Given the description of an element on the screen output the (x, y) to click on. 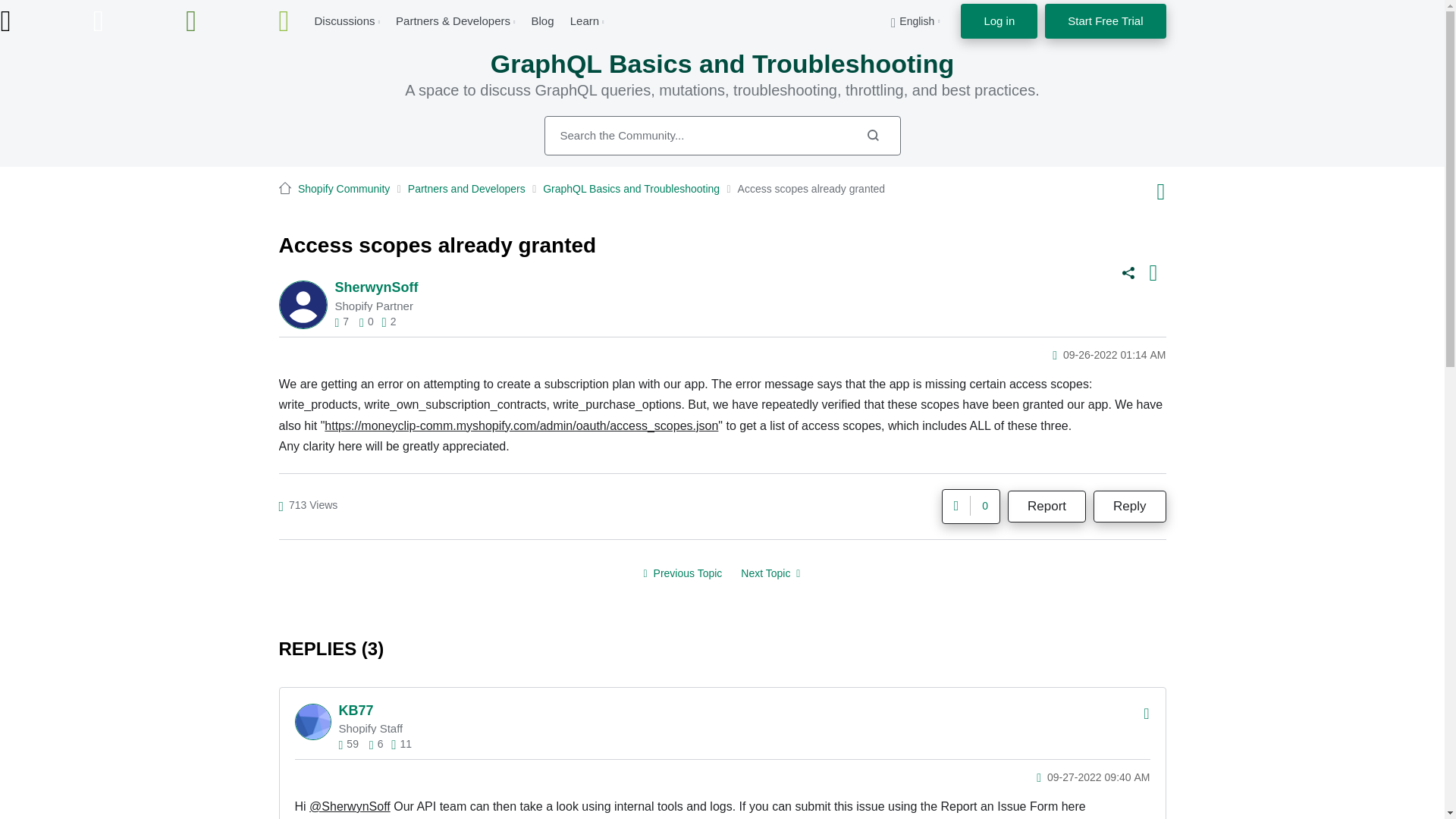
Discussions (344, 20)
Search (872, 135)
Search (722, 135)
Search (872, 135)
